Given the description of an element on the screen output the (x, y) to click on. 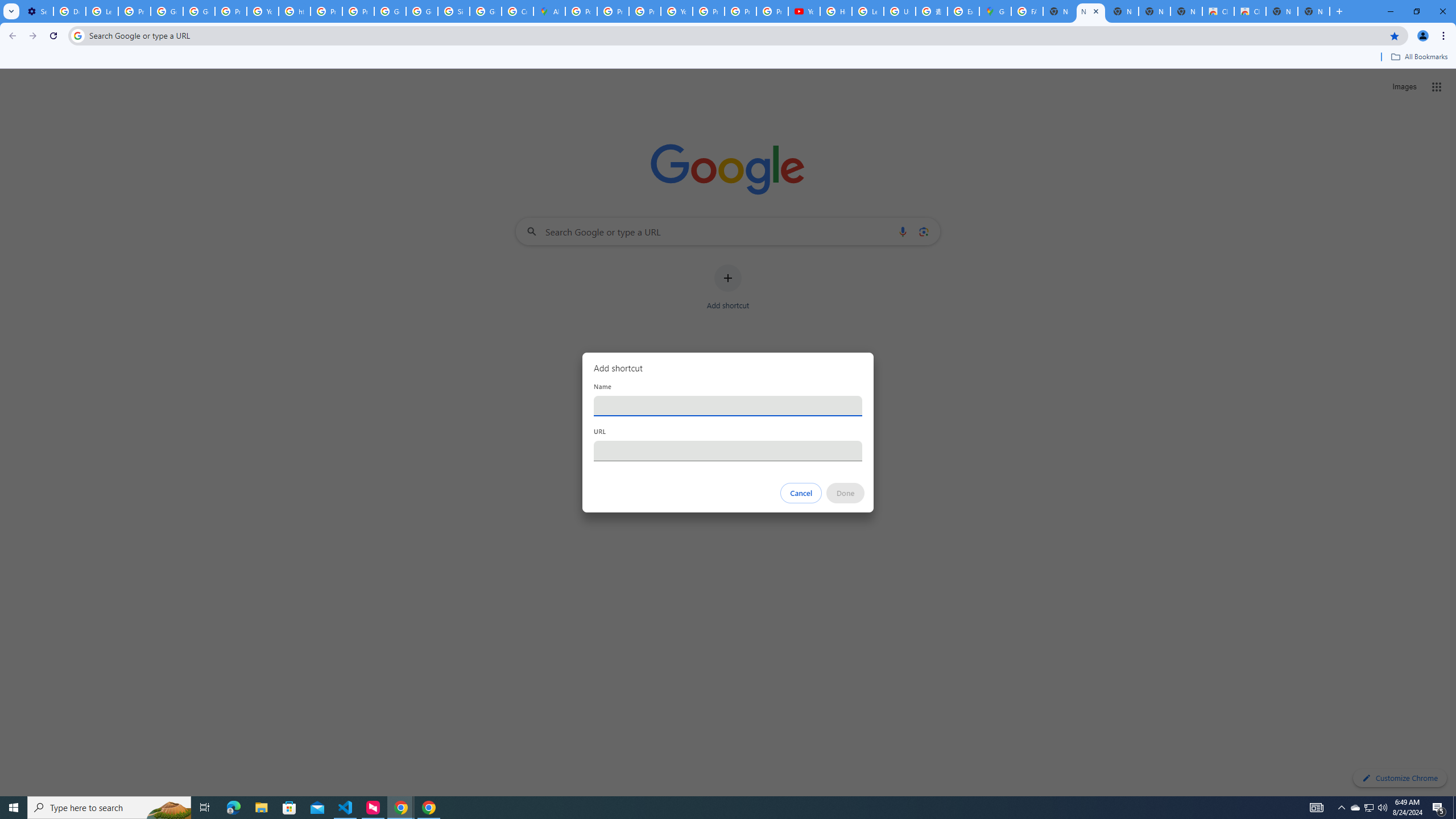
Classic Blue - Chrome Web Store (1249, 11)
Google Maps (995, 11)
Learn how to find your photos - Google Photos Help (101, 11)
Classic Blue - Chrome Web Store (1217, 11)
Google Account Help (198, 11)
Done (845, 493)
Explore new street-level details - Google Maps Help (963, 11)
